Given the description of an element on the screen output the (x, y) to click on. 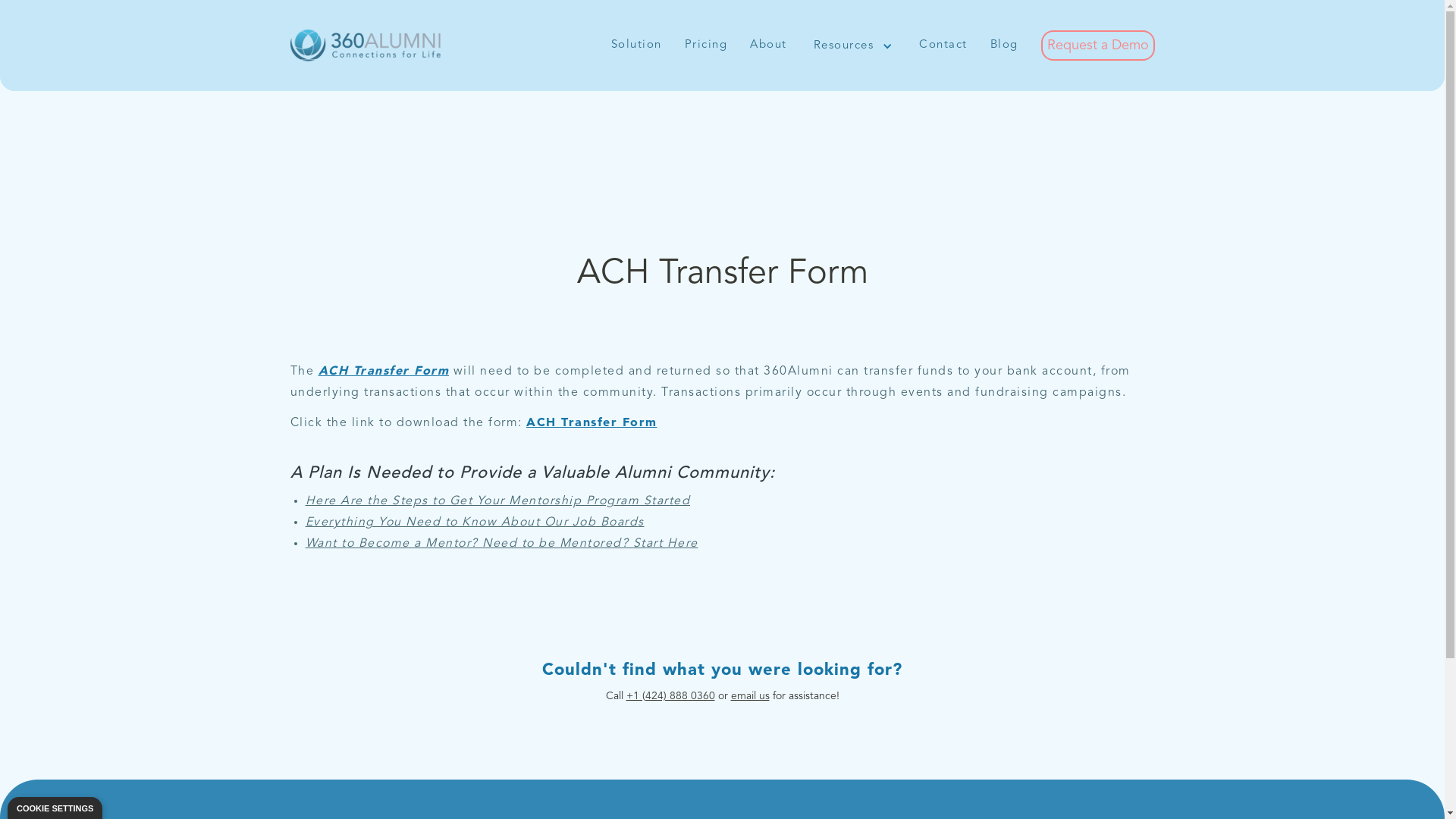
+1 (424) 888 0360 Element type: text (670, 695)
Request a Demo Element type: text (1097, 45)
Want to Become a Mentor? Need to be Mentored? Start Here Element type: text (500, 543)
About Element type: text (768, 49)
Everything You Need to Know About Our Job Boards Element type: text (473, 522)
Contact Element type: text (943, 49)
Solution Element type: text (636, 49)
ACH Transfer Form Element type: text (383, 371)
email us Element type: text (750, 695)
Blog Element type: text (1004, 49)
Read more Element type: text (653, 789)
ACH Transfer Form Element type: text (591, 423)
Pricing Element type: text (705, 49)
Here Are the Steps to Get Your Mentorship Program Started Element type: text (497, 501)
